Given the description of an element on the screen output the (x, y) to click on. 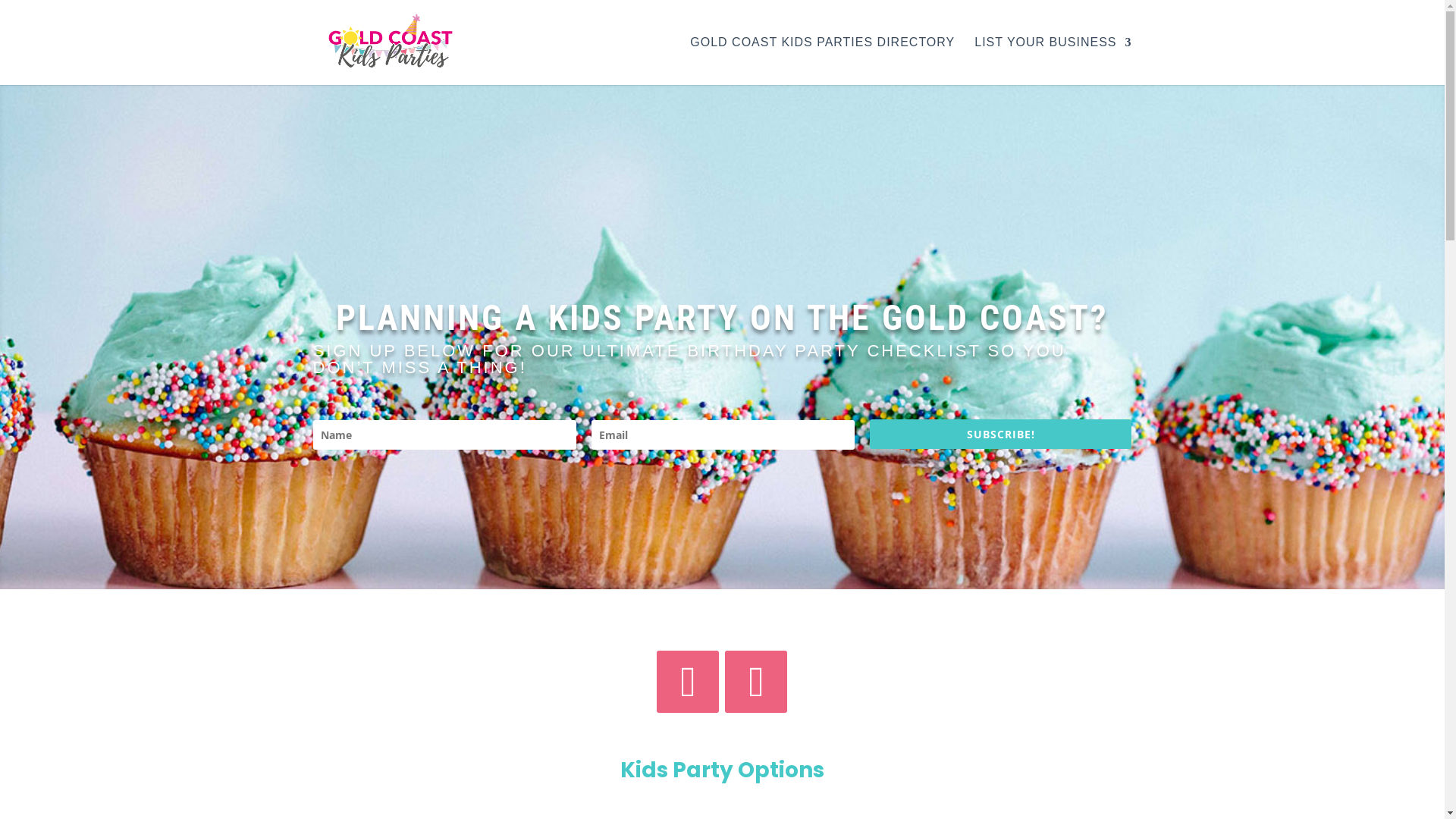
GOLD COAST KIDS PARTIES DIRECTORY Element type: text (822, 60)
Follow on Facebook Element type: hover (687, 681)
Follow on Instagram Element type: hover (755, 681)
LIST YOUR BUSINESS Element type: text (1052, 60)
SUBSCRIBE! Element type: text (1000, 433)
